Given the description of an element on the screen output the (x, y) to click on. 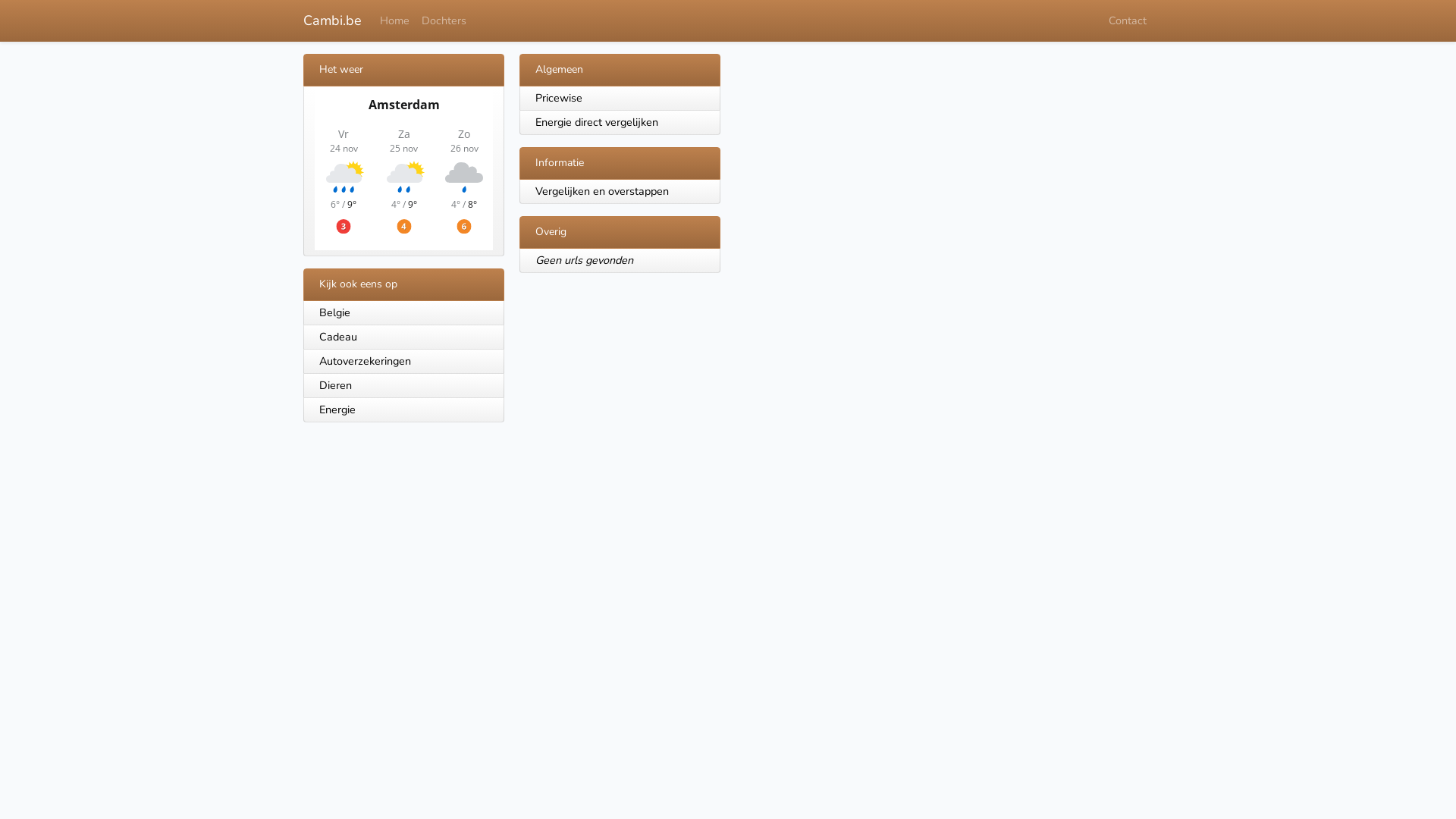
Contact Element type: text (1127, 20)
Energie Element type: text (403, 410)
Vergelijken en overstappen Element type: text (601, 190)
Energie direct vergelijken Element type: text (596, 121)
Cambi.be Element type: text (332, 20)
Autoverzekeringen Element type: text (403, 361)
Belgie Element type: text (403, 313)
Dochters Element type: text (443, 20)
Home Element type: text (394, 20)
Dieren Element type: text (403, 385)
Pricewise Element type: text (558, 97)
Cadeau Element type: text (403, 337)
